Given the description of an element on the screen output the (x, y) to click on. 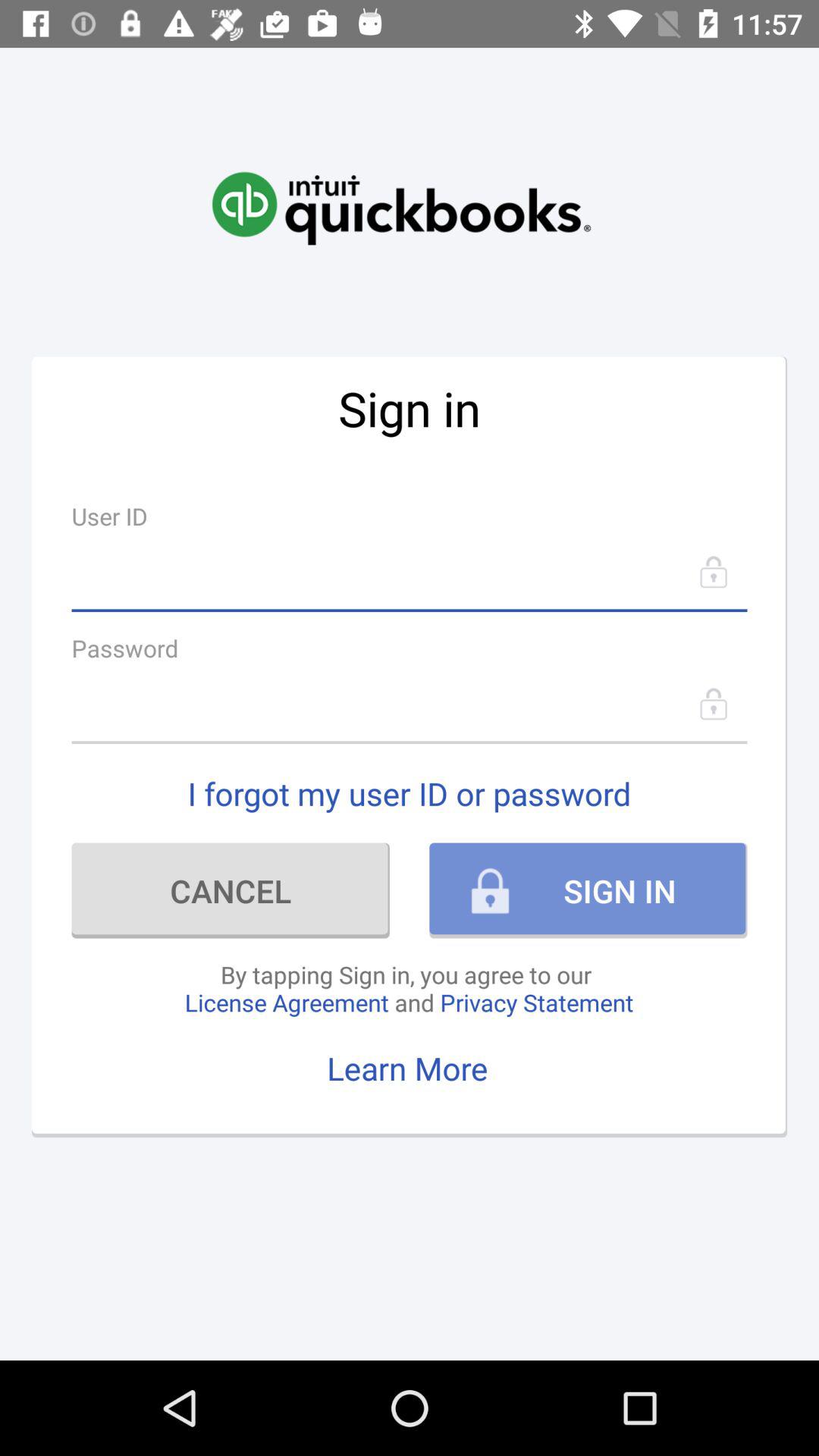
flip until the cancel icon (230, 890)
